Given the description of an element on the screen output the (x, y) to click on. 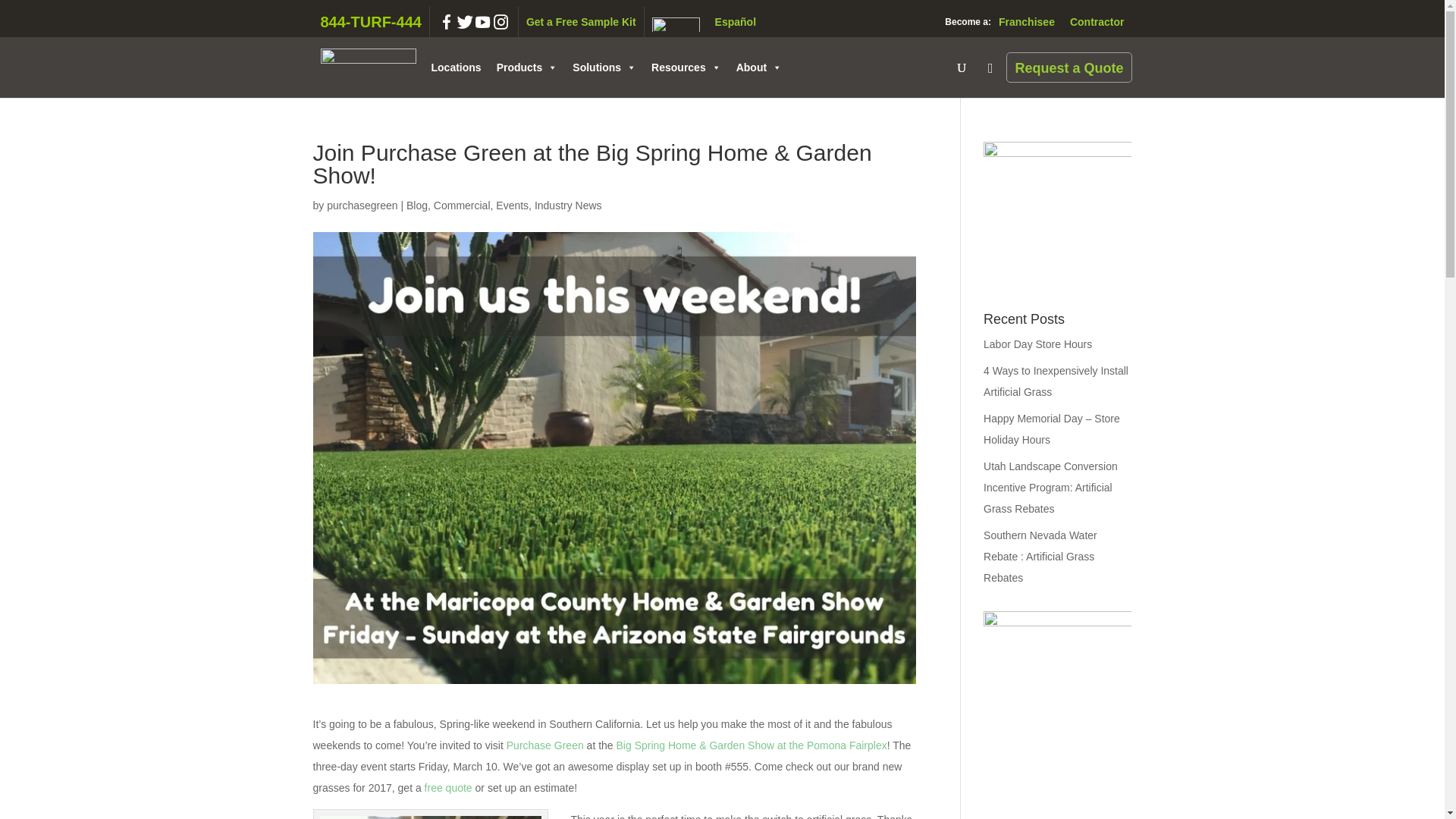
Become a: (964, 21)
Contractor (1097, 21)
844-TURF-444 (371, 21)
Solutions (603, 67)
Franchisee (1026, 21)
Posts by purchasegreen (361, 205)
Products (527, 67)
Locations (455, 67)
Get a Free Sample Kit (581, 21)
